Given the description of an element on the screen output the (x, y) to click on. 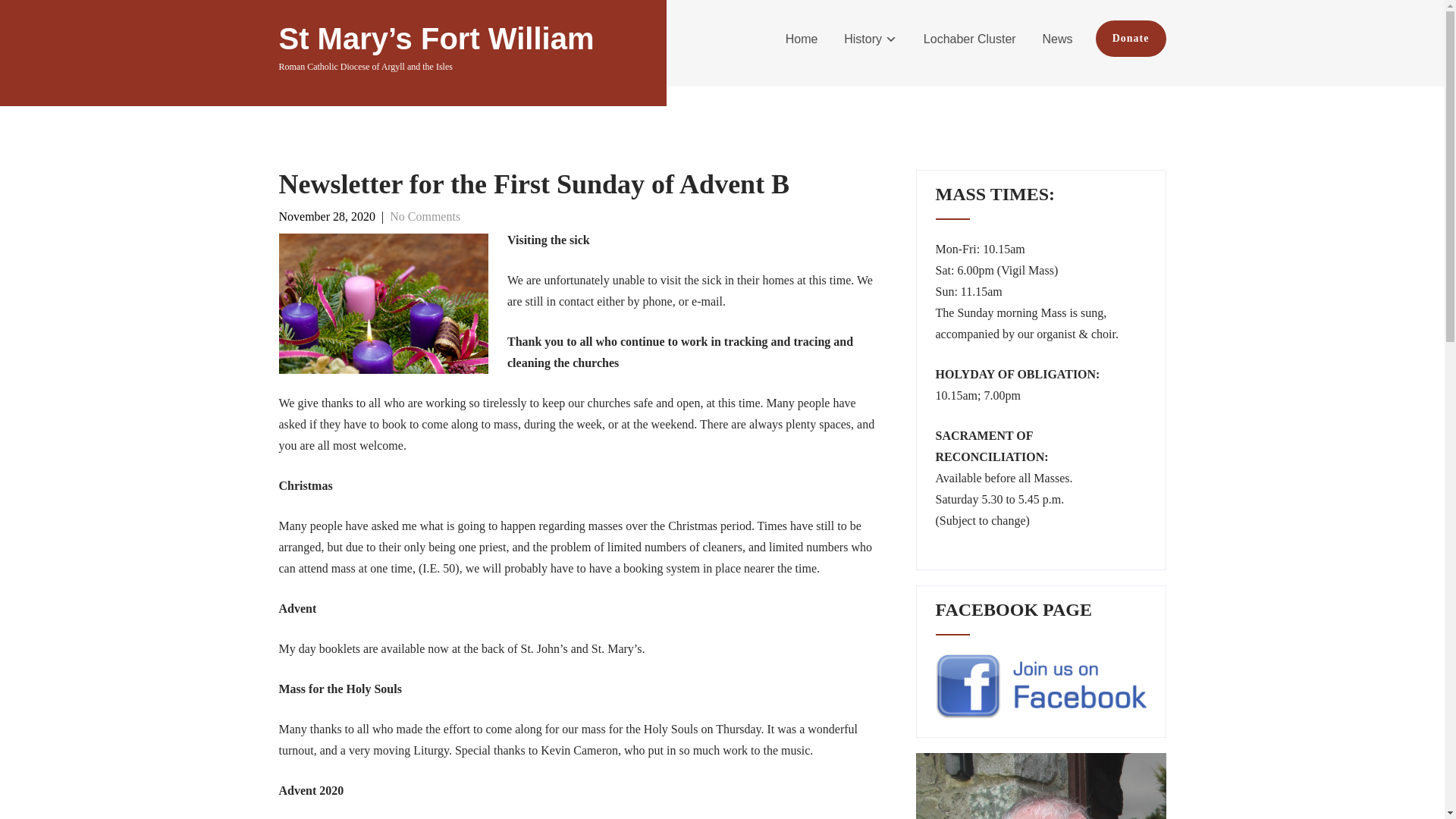
No Comments (425, 215)
News (1056, 39)
History (870, 39)
Donate (1131, 38)
Home (801, 39)
Lochaber Cluster (969, 39)
